Given the description of an element on the screen output the (x, y) to click on. 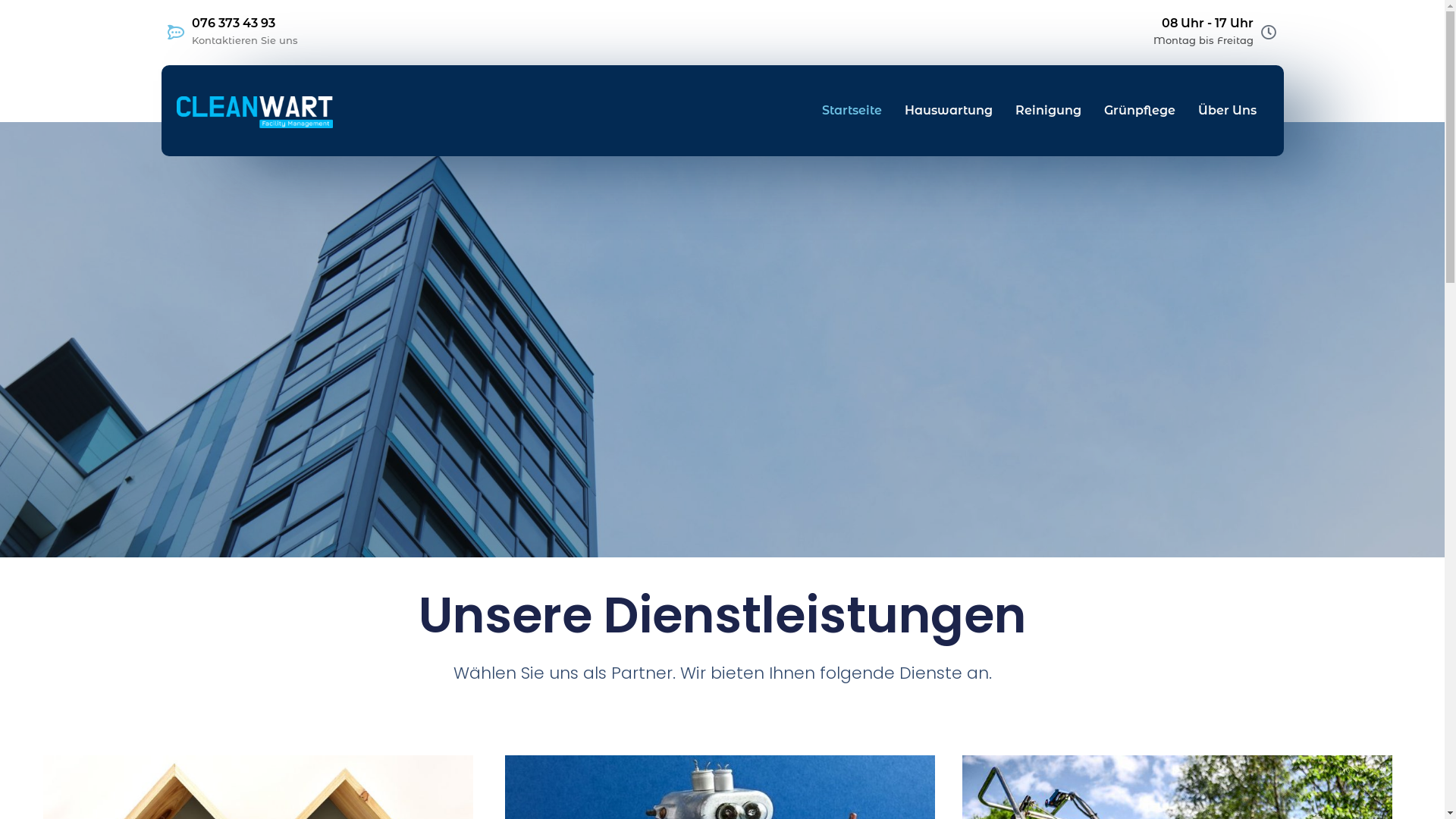
Hauswartung Element type: text (948, 110)
076 373 43 93 Element type: text (232, 22)
Startseite Element type: text (851, 110)
Reinigung Element type: text (1048, 110)
